Given the description of an element on the screen output the (x, y) to click on. 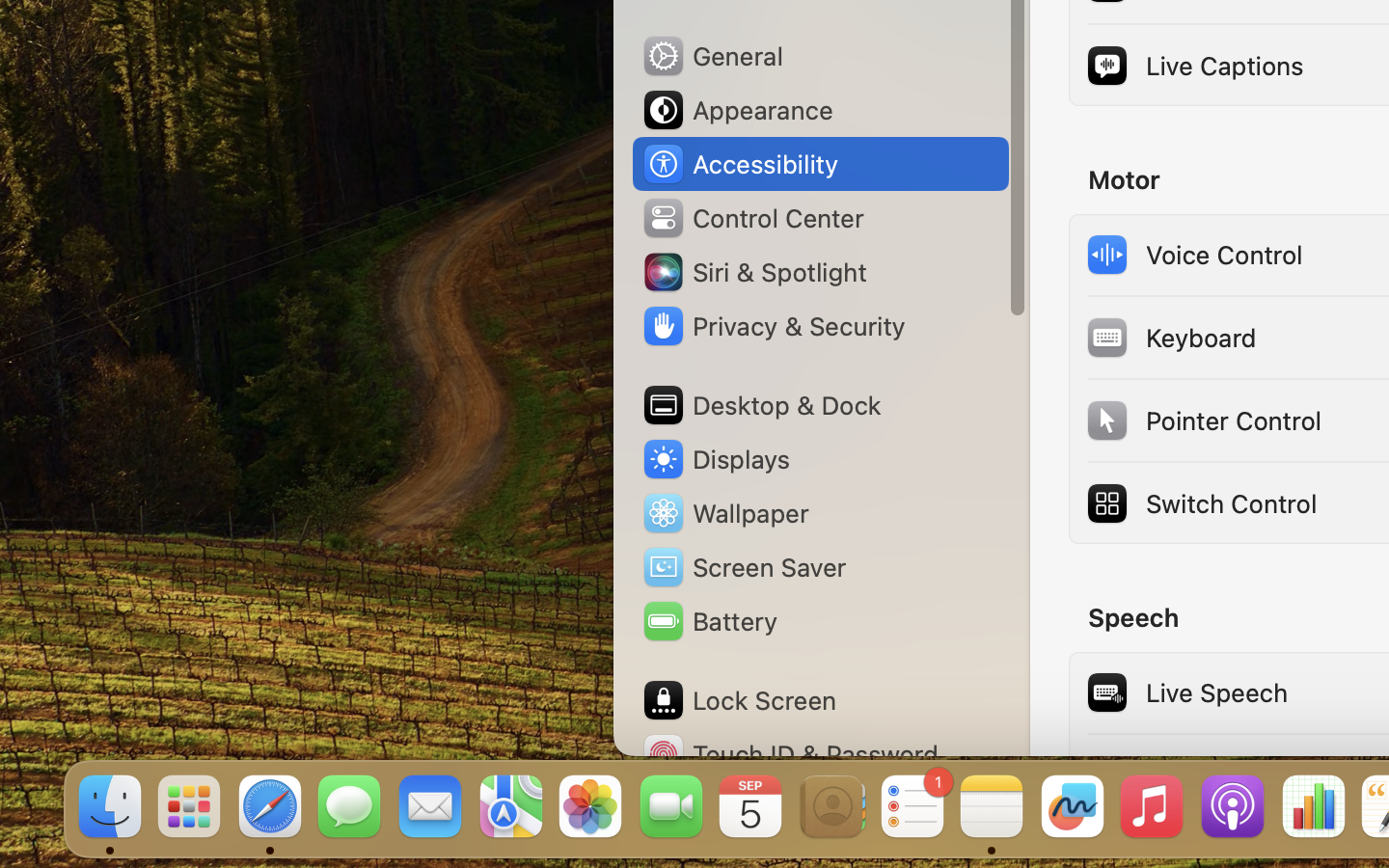
Appearance Element type: AXStaticText (736, 109)
Wallpaper Element type: AXStaticText (724, 512)
Screen Saver Element type: AXStaticText (743, 566)
